Given the description of an element on the screen output the (x, y) to click on. 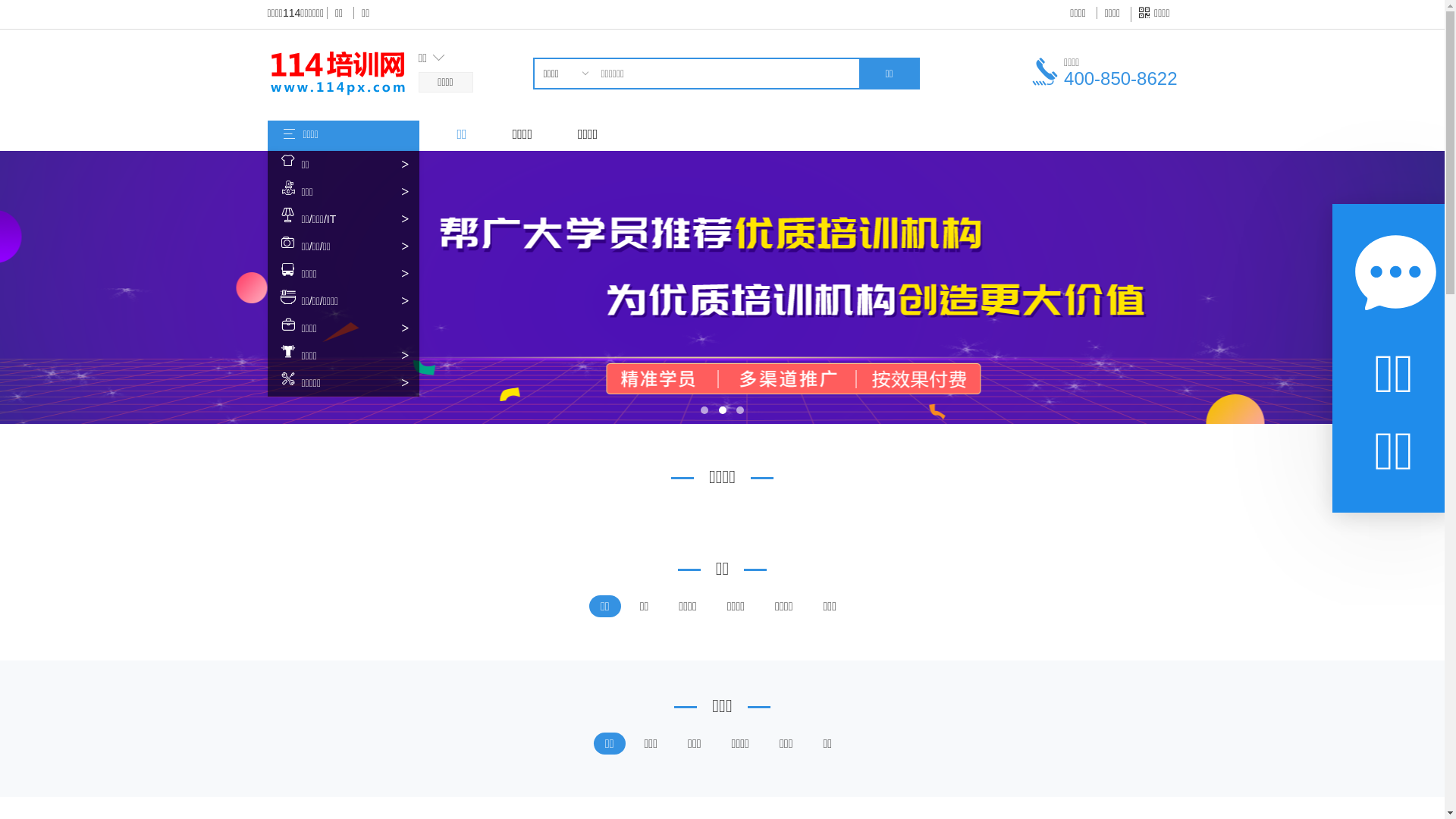
0 Element type: text (563, 119)
0 Element type: text (563, 100)
